Given the description of an element on the screen output the (x, y) to click on. 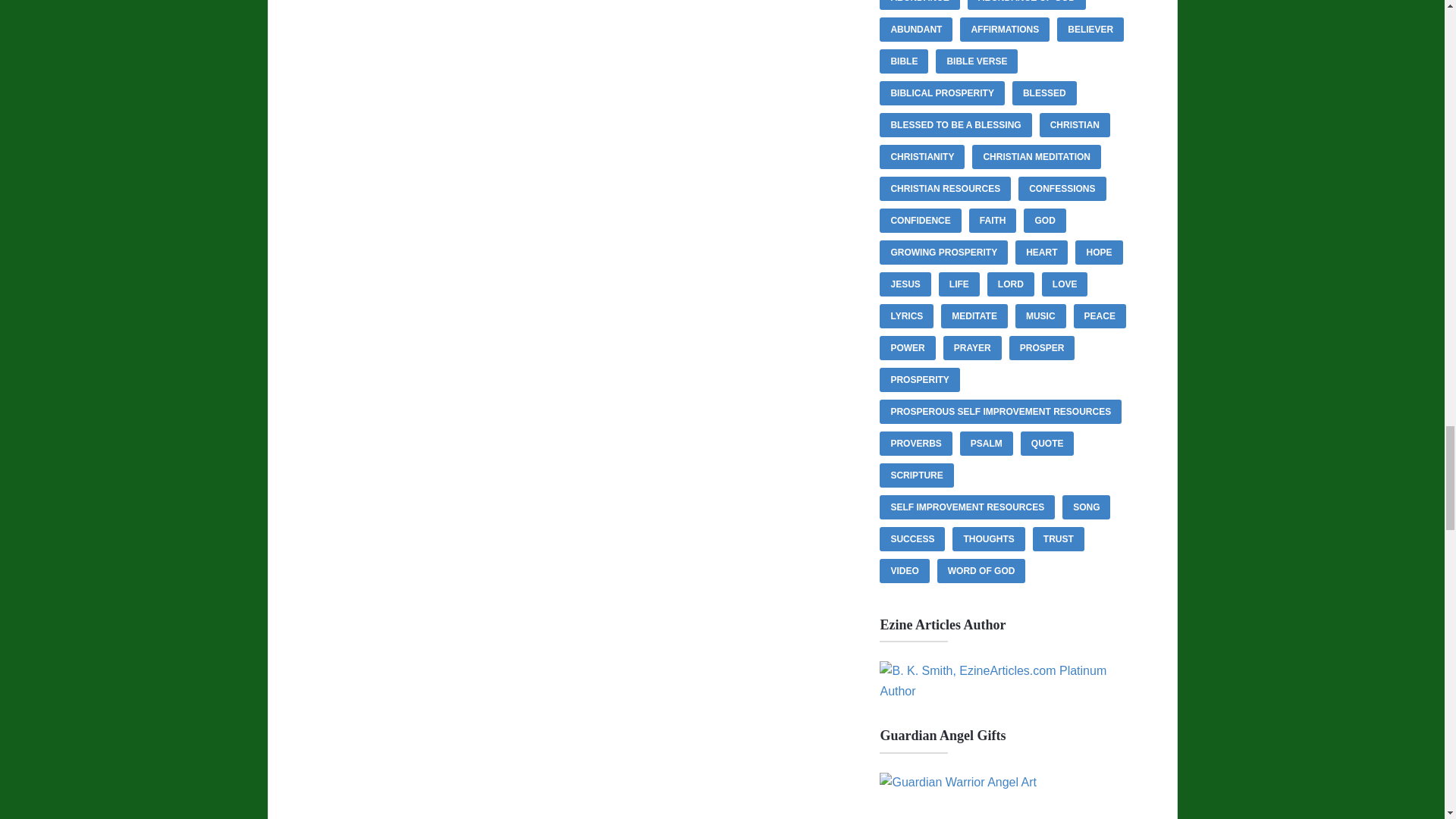
B. K. Smith, EzineArticles.com Expert Author (1008, 690)
Guardian Warrior Angel Art (957, 781)
